Given the description of an element on the screen output the (x, y) to click on. 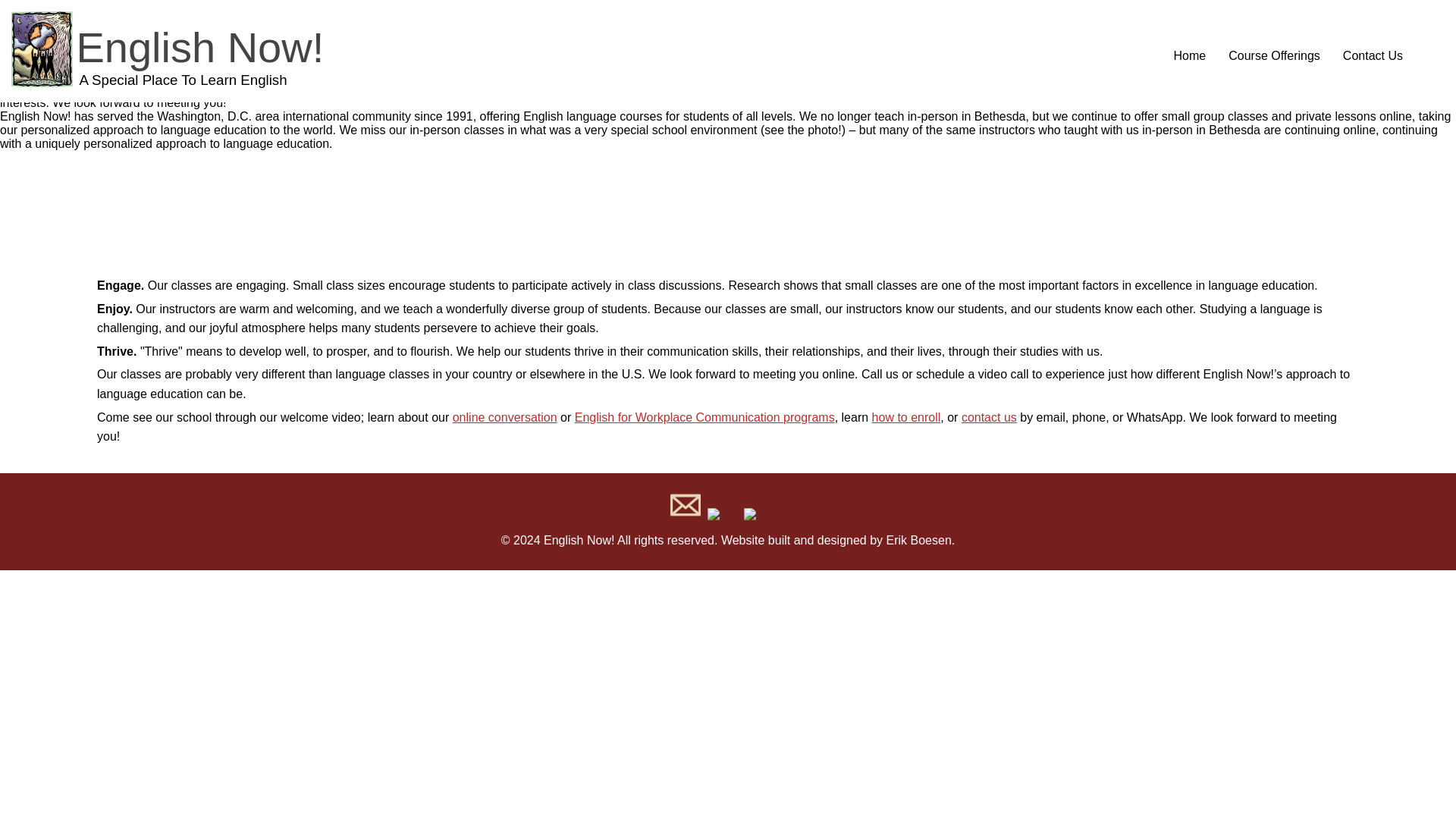
Course Offerings (1274, 55)
Home (1189, 55)
contact us (167, 82)
English for Workplace Communication programs (988, 417)
online conversation (704, 417)
Erik Boesen (504, 417)
Contact Us (919, 540)
how to enroll (1372, 55)
